Given the description of an element on the screen output the (x, y) to click on. 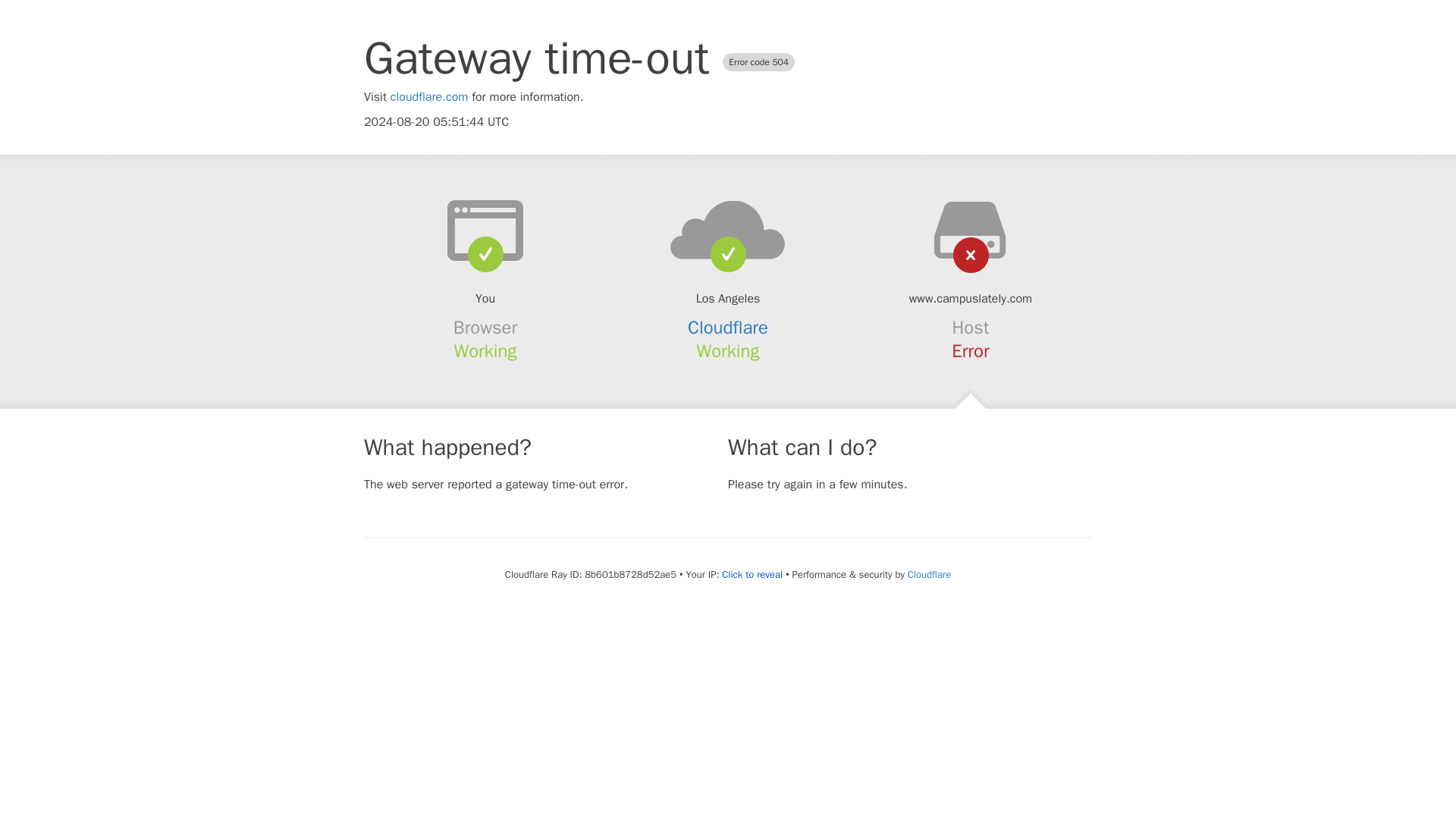
cloudflare.com (429, 96)
Cloudflare (727, 327)
Click to reveal (752, 574)
Cloudflare (928, 574)
